Given the description of an element on the screen output the (x, y) to click on. 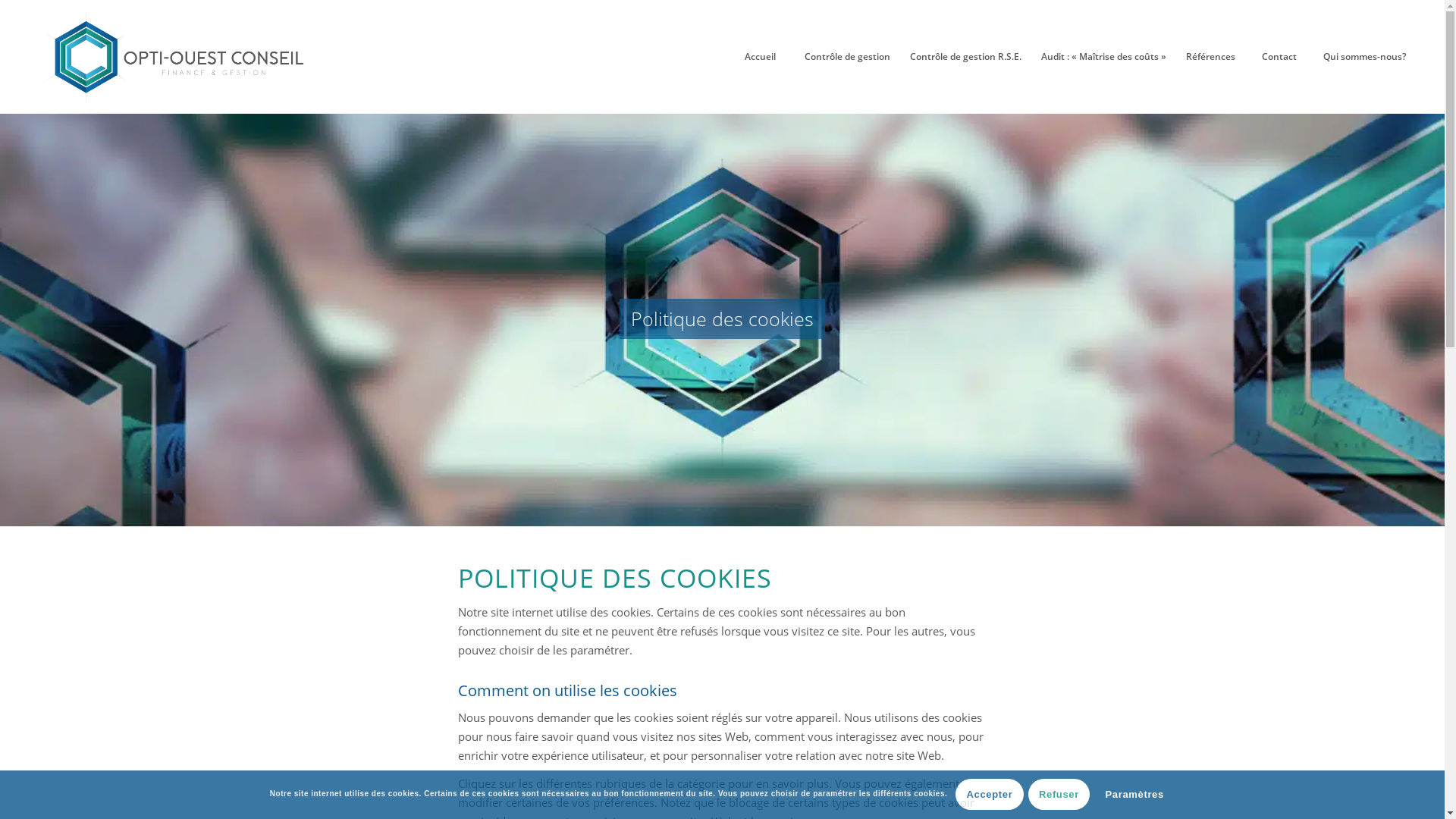
Refuser Element type: text (1059, 794)
Accepter Element type: text (988, 794)
Qui sommes-nous? Element type: text (1364, 56)
Accueil Element type: text (760, 56)
Contact Element type: text (1279, 56)
